Given the description of an element on the screen output the (x, y) to click on. 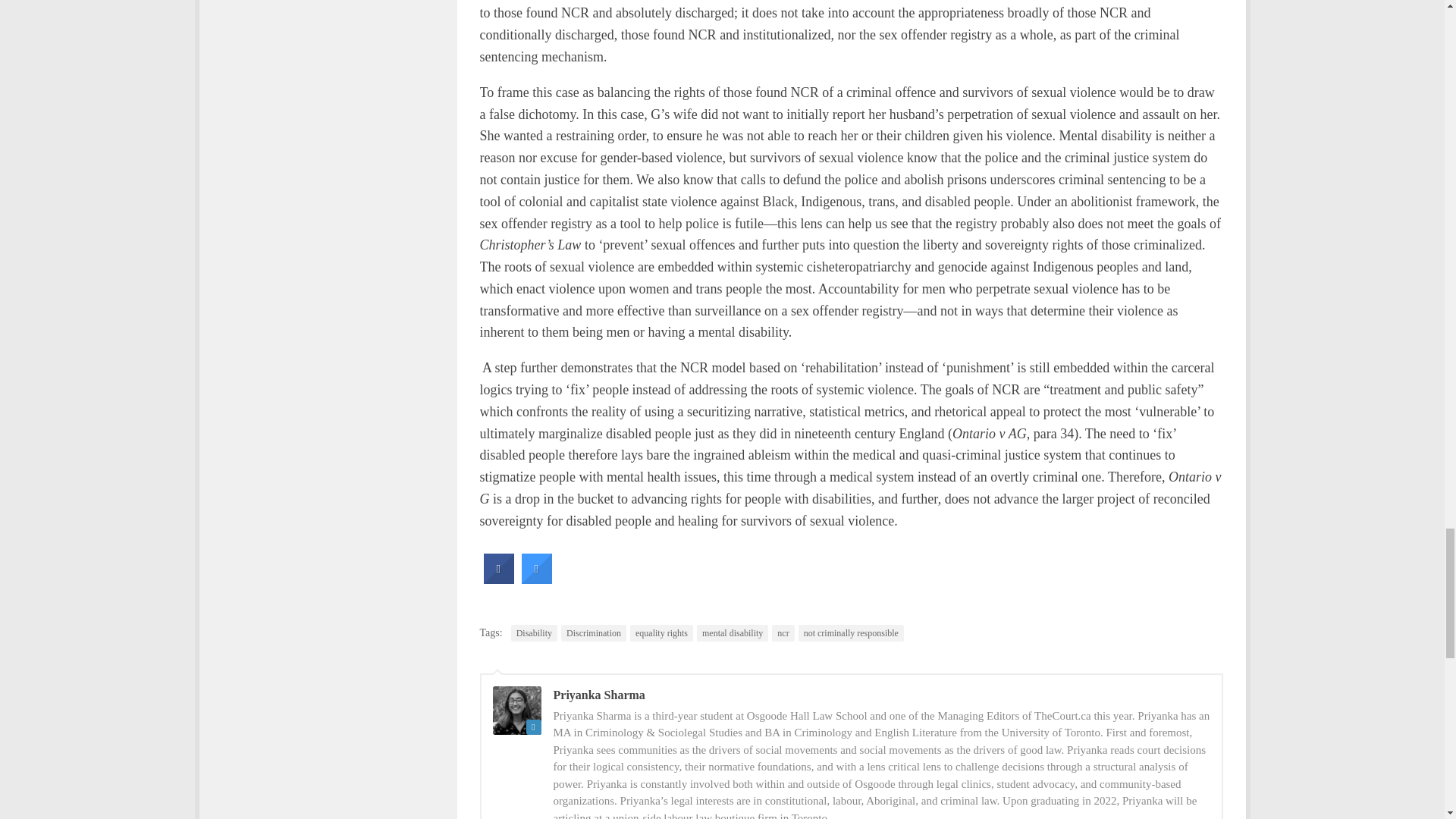
mental disability (732, 632)
Discrimination (593, 632)
Share on Facebook (498, 579)
Share on Twitter (536, 579)
Disability (534, 632)
equality rights (661, 632)
